Given the description of an element on the screen output the (x, y) to click on. 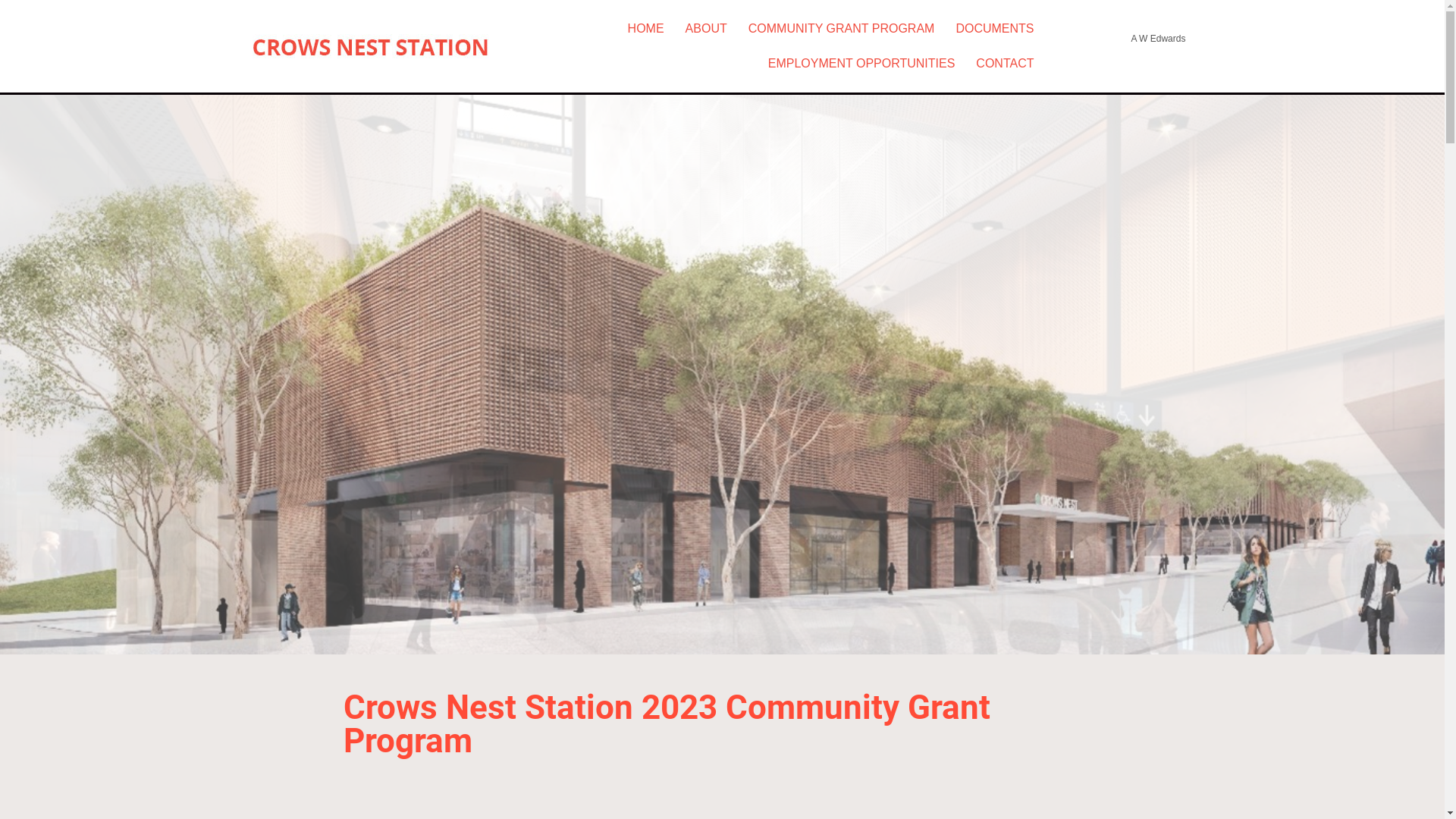
DOCUMENTS Element type: text (994, 28)
CONTACT Element type: text (1004, 63)
EMPLOYMENT OPPORTUNITIES Element type: text (861, 63)
ABOUT Element type: text (705, 28)
COMMUNITY GRANT PROGRAM Element type: text (841, 28)
HOME Element type: text (645, 28)
